Given the description of an element on the screen output the (x, y) to click on. 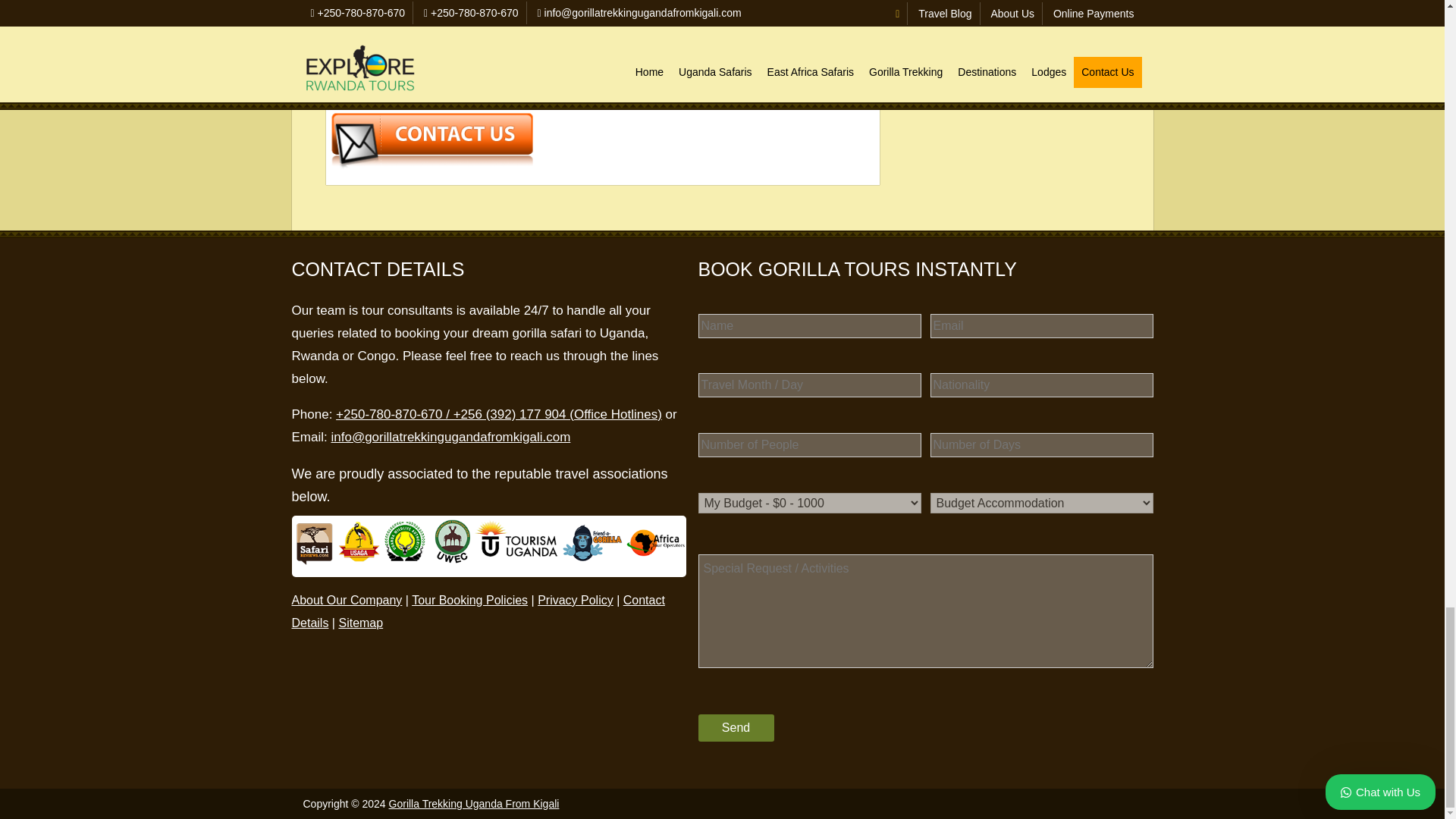
Kigali City (643, 13)
About Our Company (346, 599)
Rwanda Safari Tour (585, 59)
Send (735, 728)
